Given the description of an element on the screen output the (x, y) to click on. 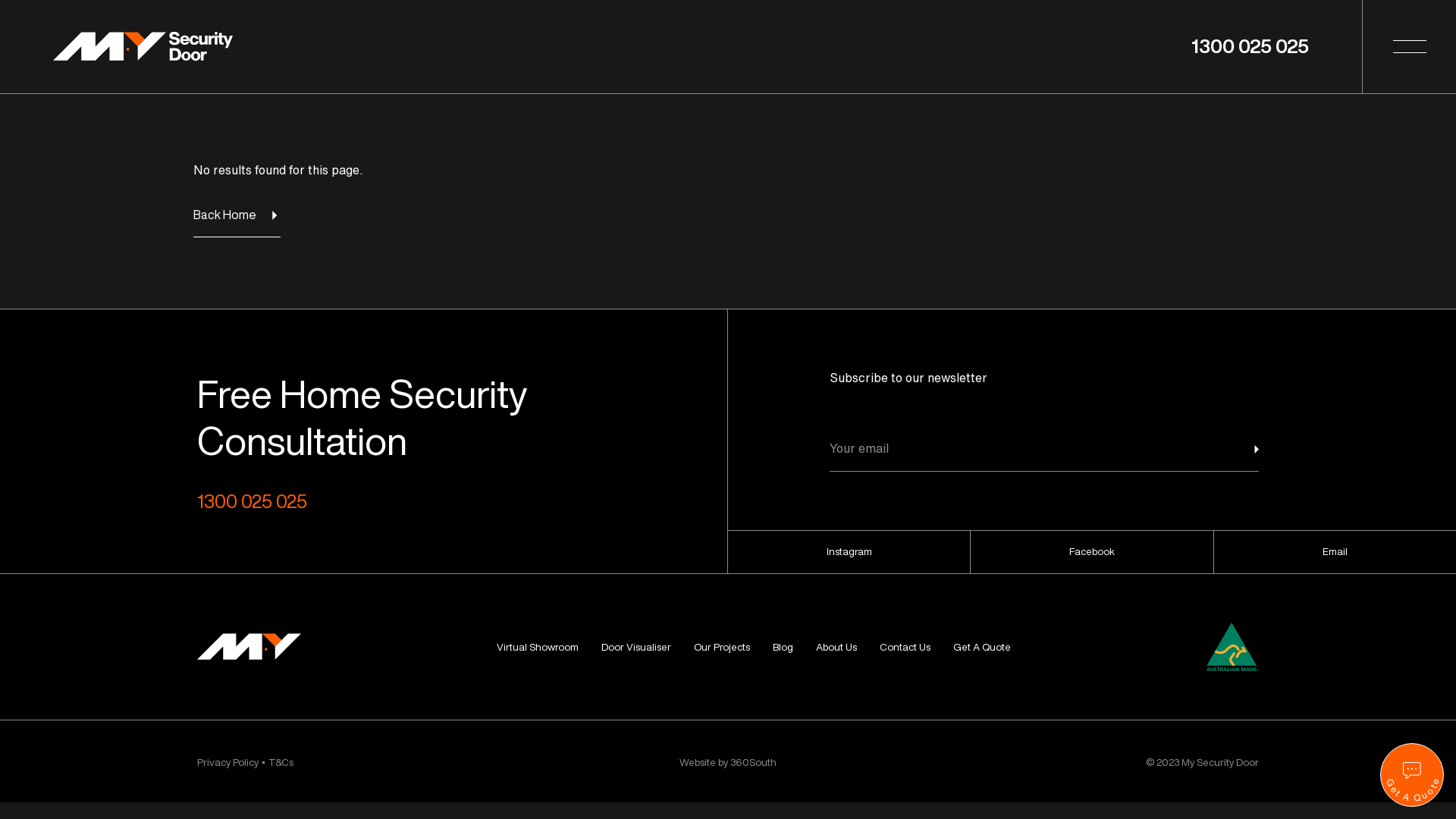
Facebook Element type: text (1091, 551)
T&Cs Element type: text (280, 761)
Website by 360South Element type: text (727, 761)
Door Visualiser Element type: text (636, 646)
1300 025 025 Element type: text (366, 500)
Play
Get A Quote Element type: text (1411, 774)
Blog Element type: text (782, 646)
Virtual Showroom Element type: text (537, 646)
Our Projects Element type: text (721, 646)
1300 025 025 Element type: text (1249, 45)
Contact Us Element type: text (904, 646)
About Us Element type: text (835, 646)
Get A Quote Element type: text (981, 646)
Privacy Policy Element type: text (227, 761)
Back Home Element type: text (242, 220)
Instagram Element type: text (849, 551)
